Given the description of an element on the screen output the (x, y) to click on. 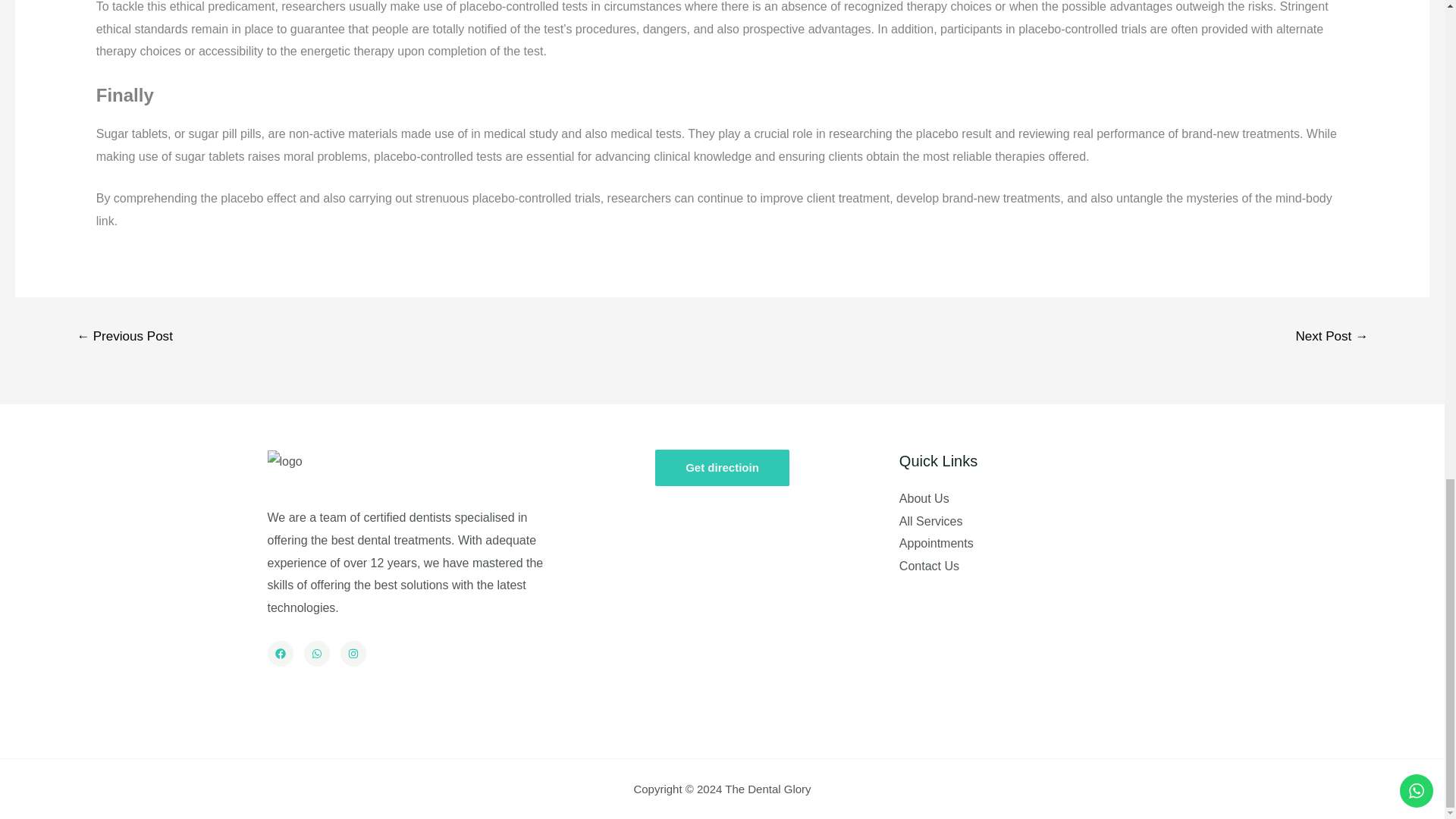
All Services (930, 521)
About Us (924, 498)
Appointments (936, 543)
Contact Us (929, 565)
Get directioin (722, 467)
